Given the description of an element on the screen output the (x, y) to click on. 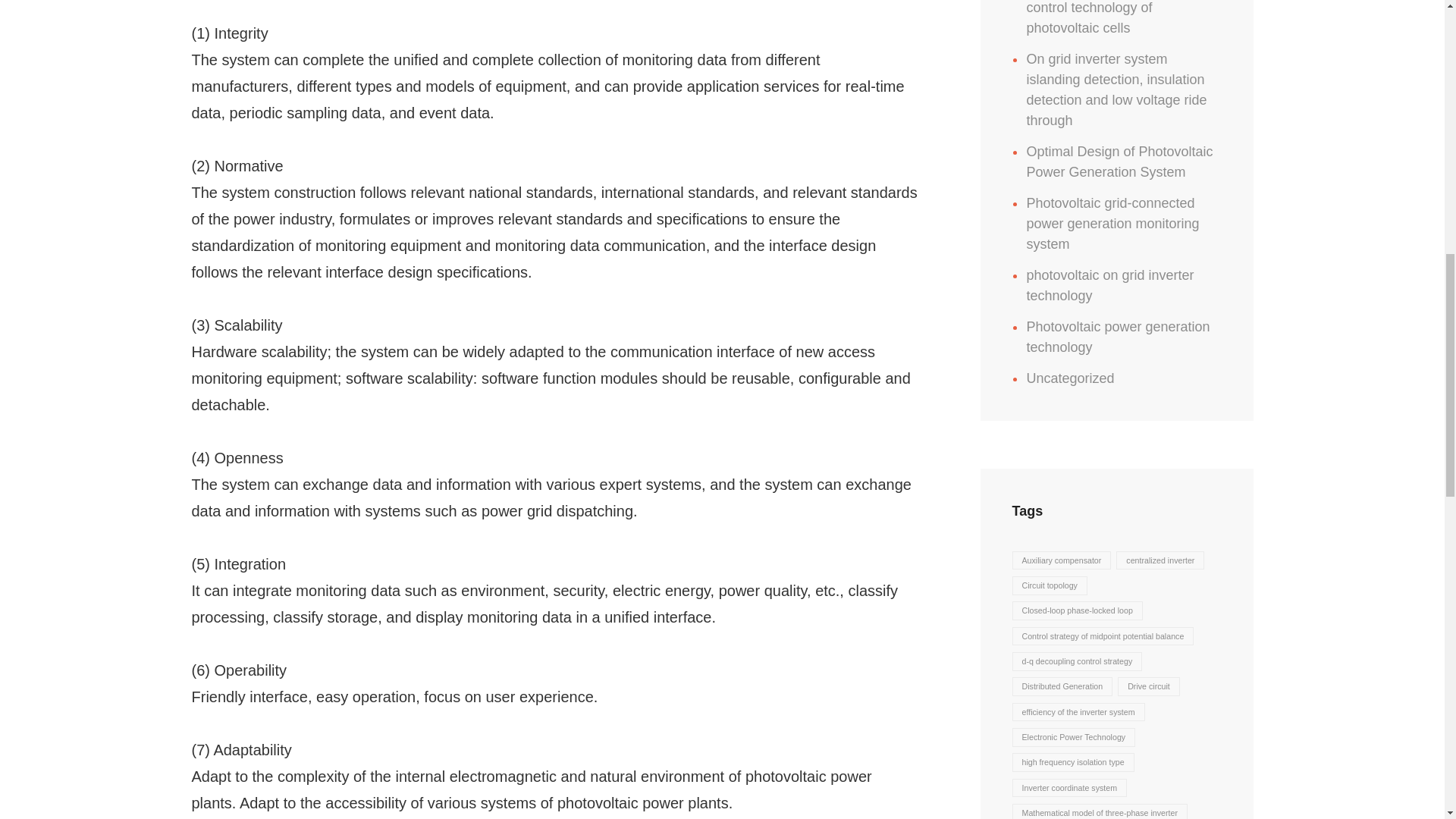
Control strategy of midpoint potential balance (1102, 636)
Electronic Power Technology (1073, 737)
Optimal Design of Photovoltaic Power Generation System (1119, 161)
Closed-loop phase-locked loop (1076, 610)
Auxiliary compensator (1060, 560)
Inverter coordinate system (1068, 787)
Drive circuit (1148, 686)
centralized inverter (1160, 560)
Circuit topology (1048, 585)
